Given the description of an element on the screen output the (x, y) to click on. 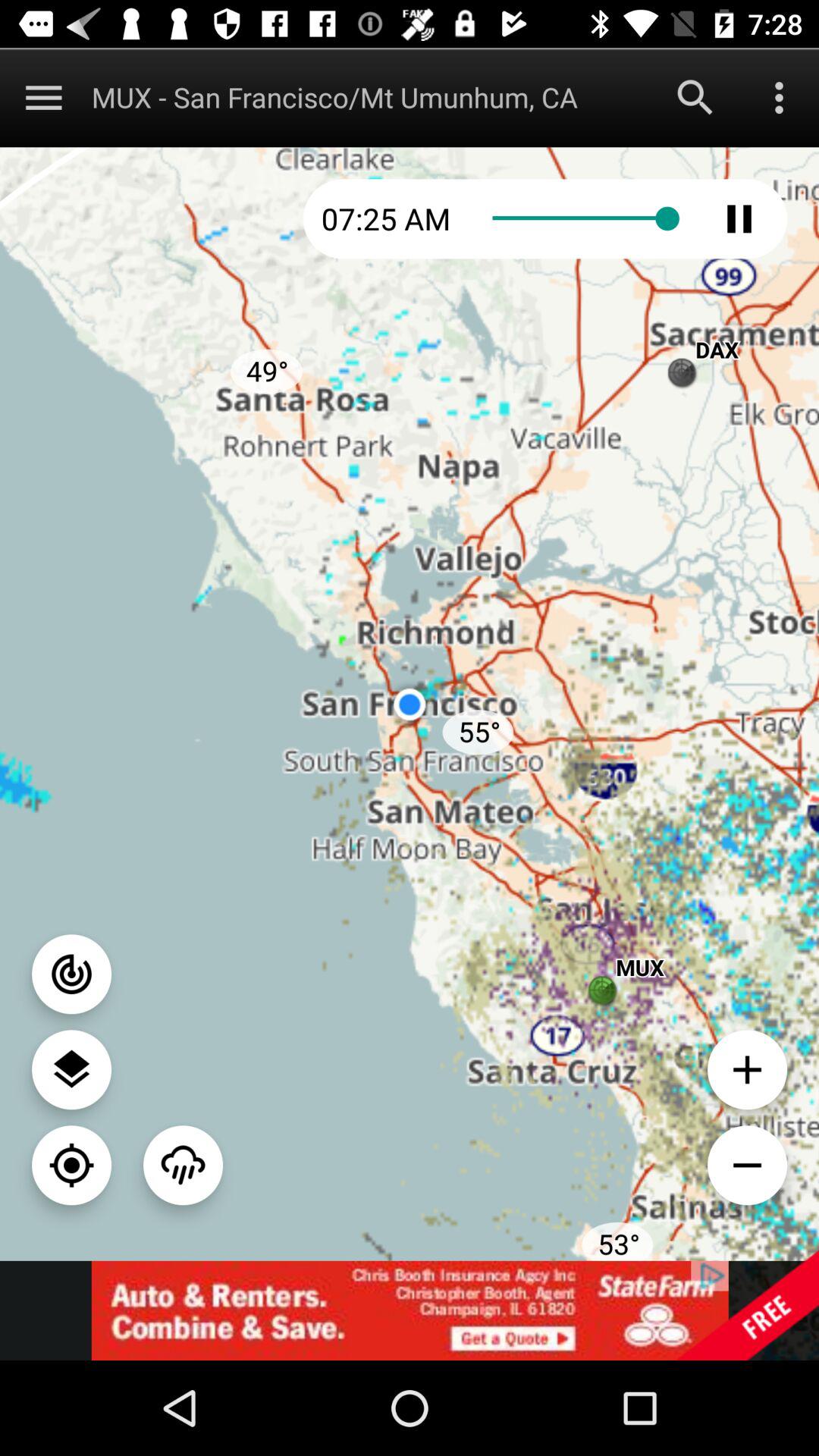
zoom (747, 1165)
